Given the description of an element on the screen output the (x, y) to click on. 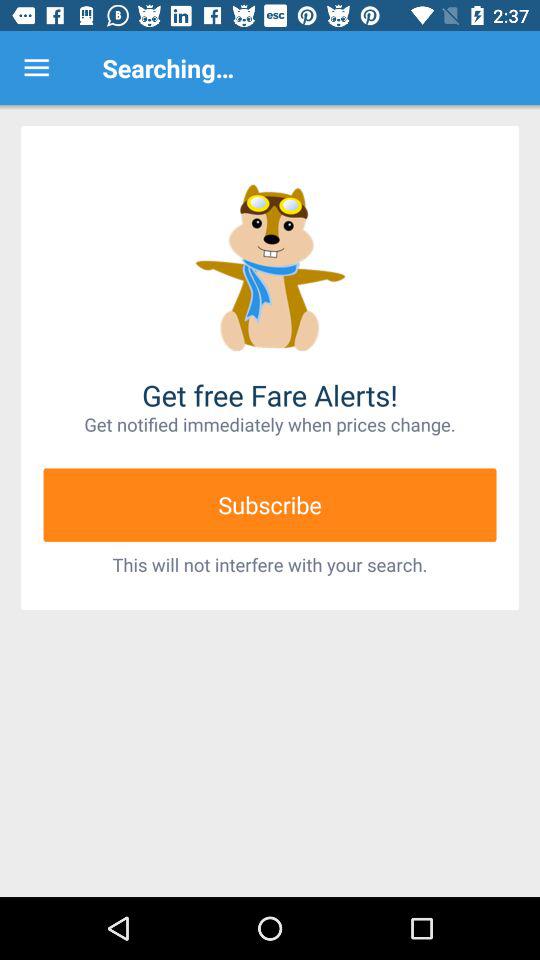
press subscribe (269, 504)
